Given the description of an element on the screen output the (x, y) to click on. 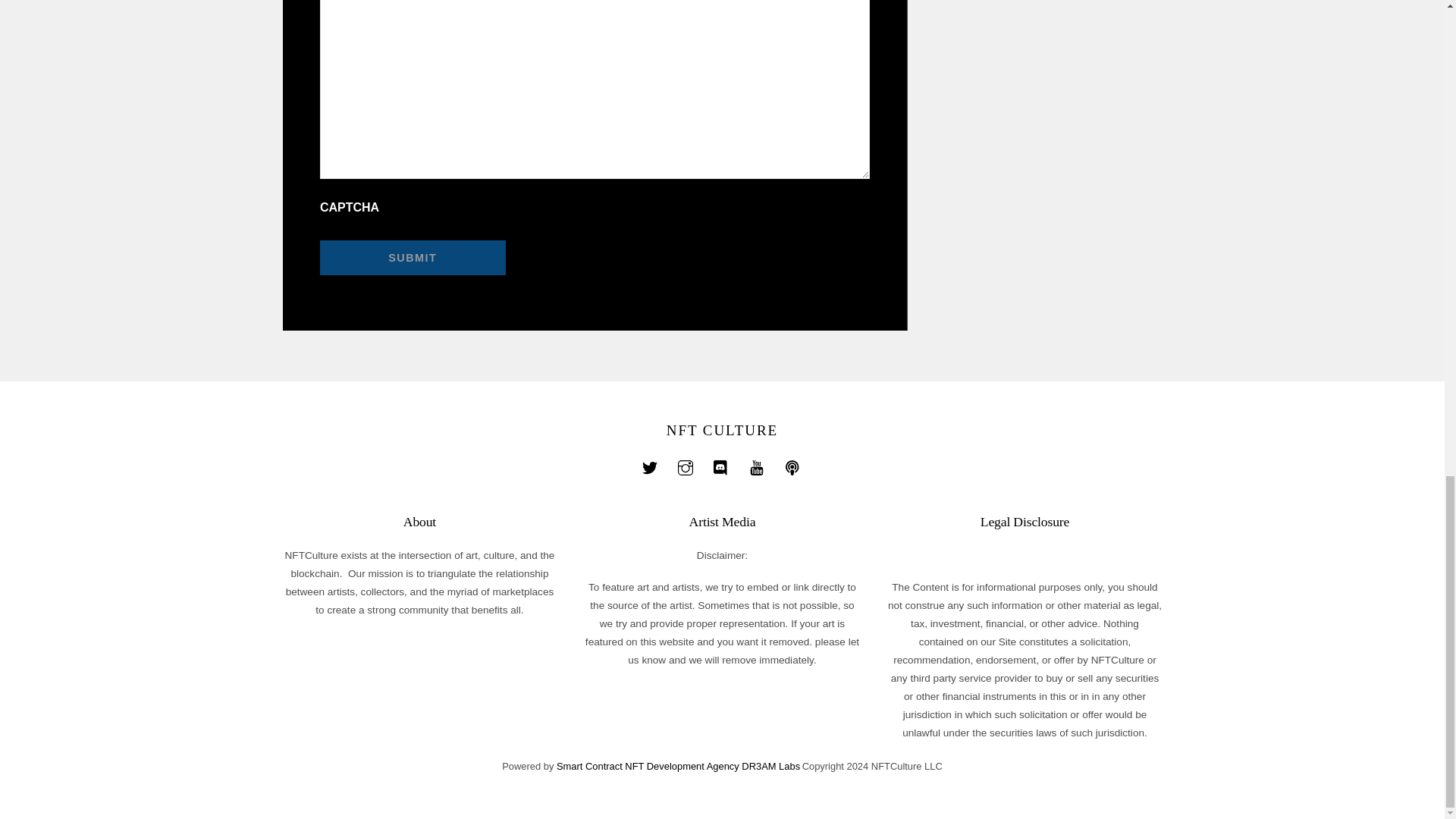
NFT CULTURE (721, 430)
Submit (412, 257)
Submit (412, 257)
